Given the description of an element on the screen output the (x, y) to click on. 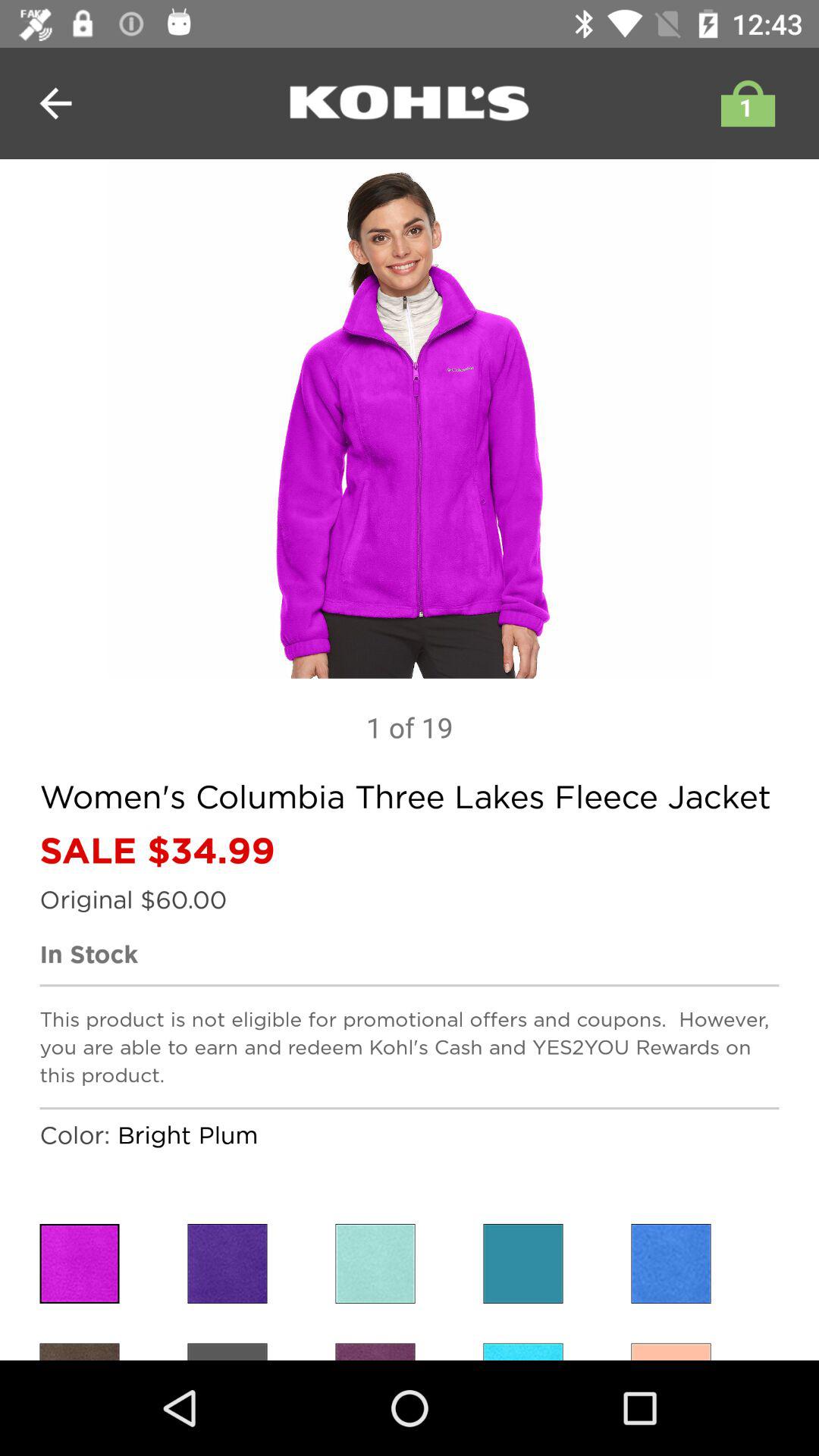
turn on the item below the  bright plum (227, 1263)
